Given the description of an element on the screen output the (x, y) to click on. 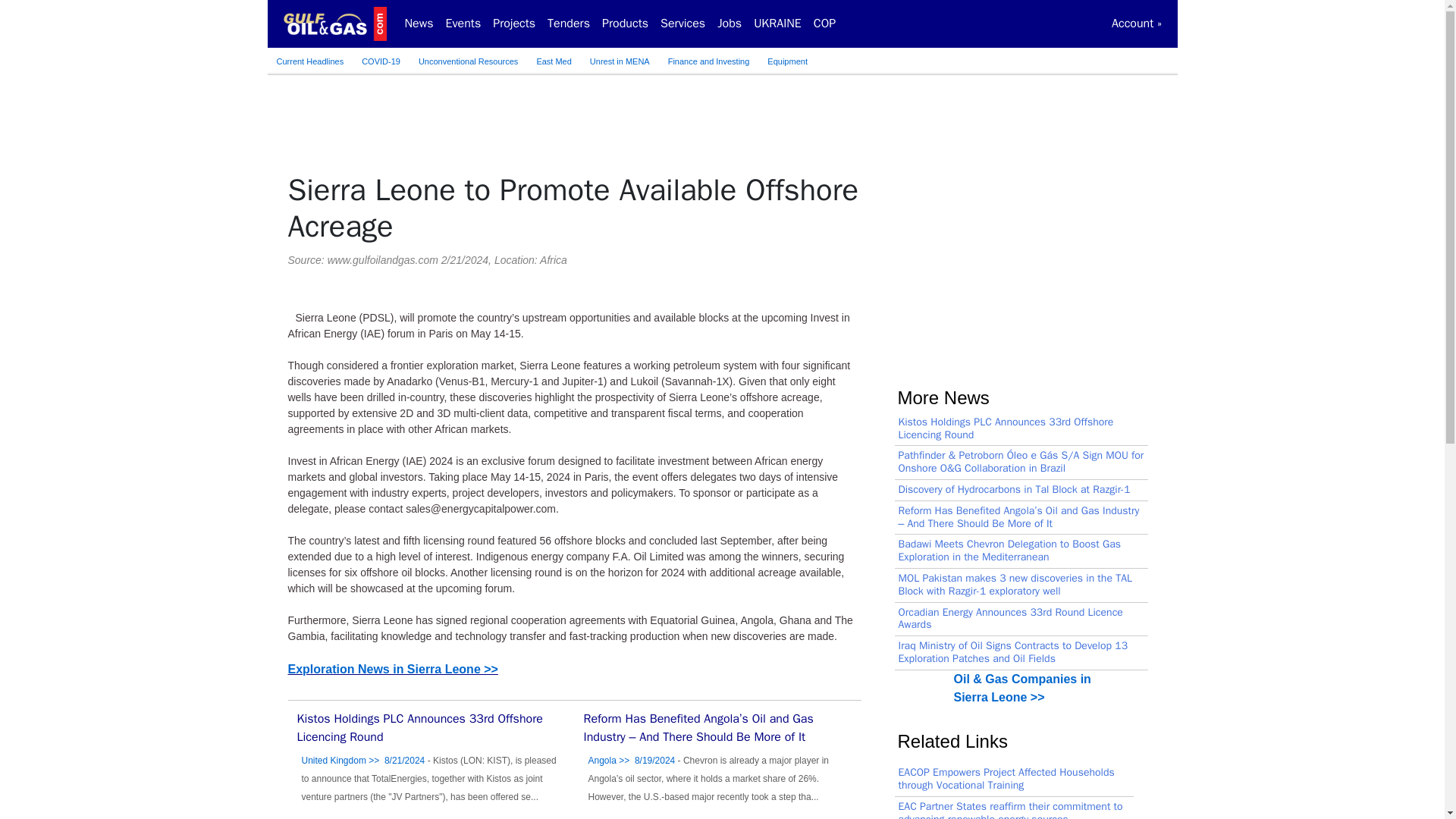
UKRAINE (778, 23)
Kistos Holdings PLC Announces 33rd Offshore Licencing Round (420, 727)
Services (682, 23)
Current Headlines (309, 61)
Current Headlines (309, 61)
East Mediterranean (553, 61)
Projects (513, 23)
News (418, 23)
COVID-19 (380, 61)
Products (624, 23)
